Given the description of an element on the screen output the (x, y) to click on. 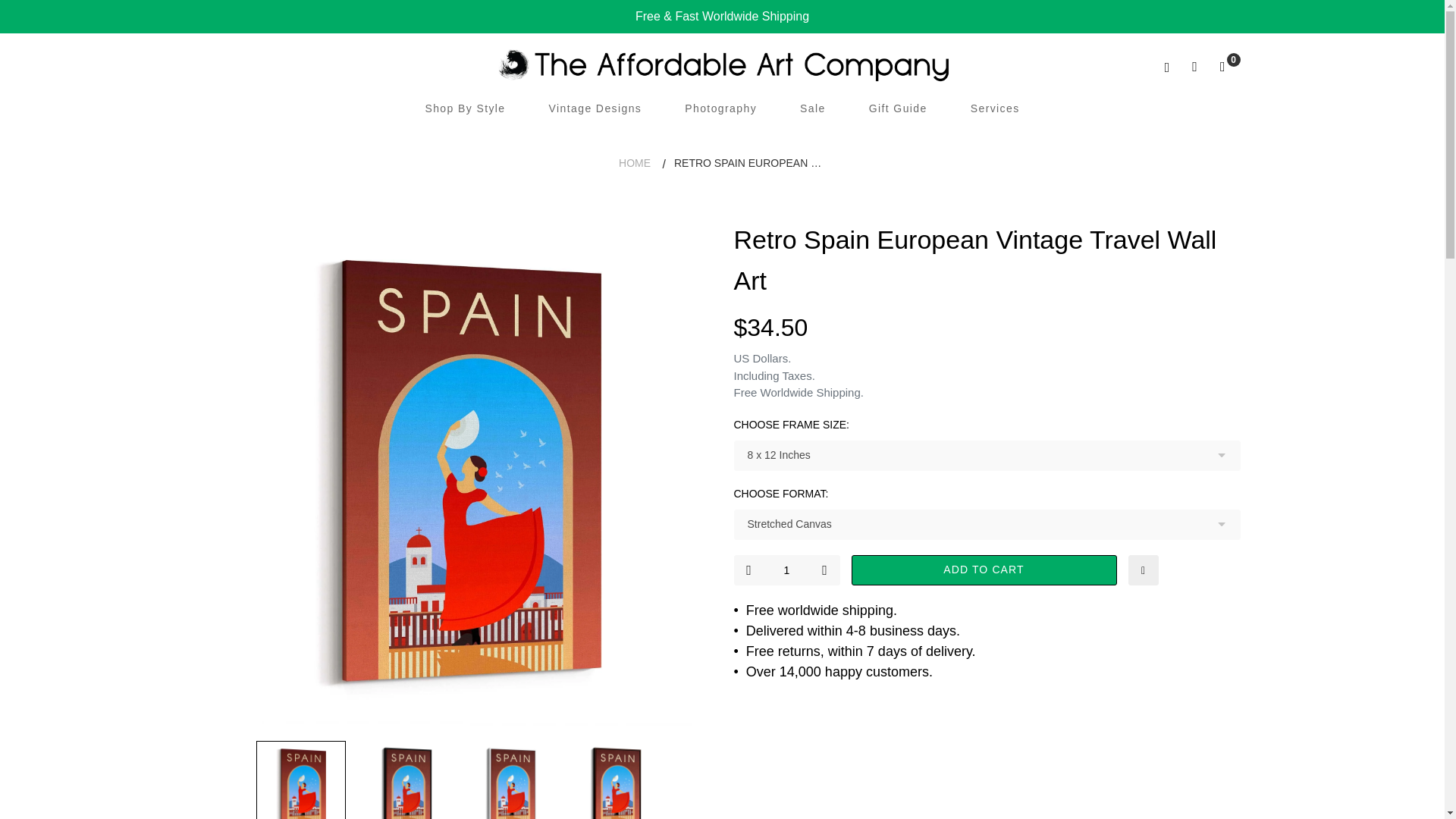
Add to Wishlist (1143, 570)
1 (786, 570)
Home (634, 163)
